Given the description of an element on the screen output the (x, y) to click on. 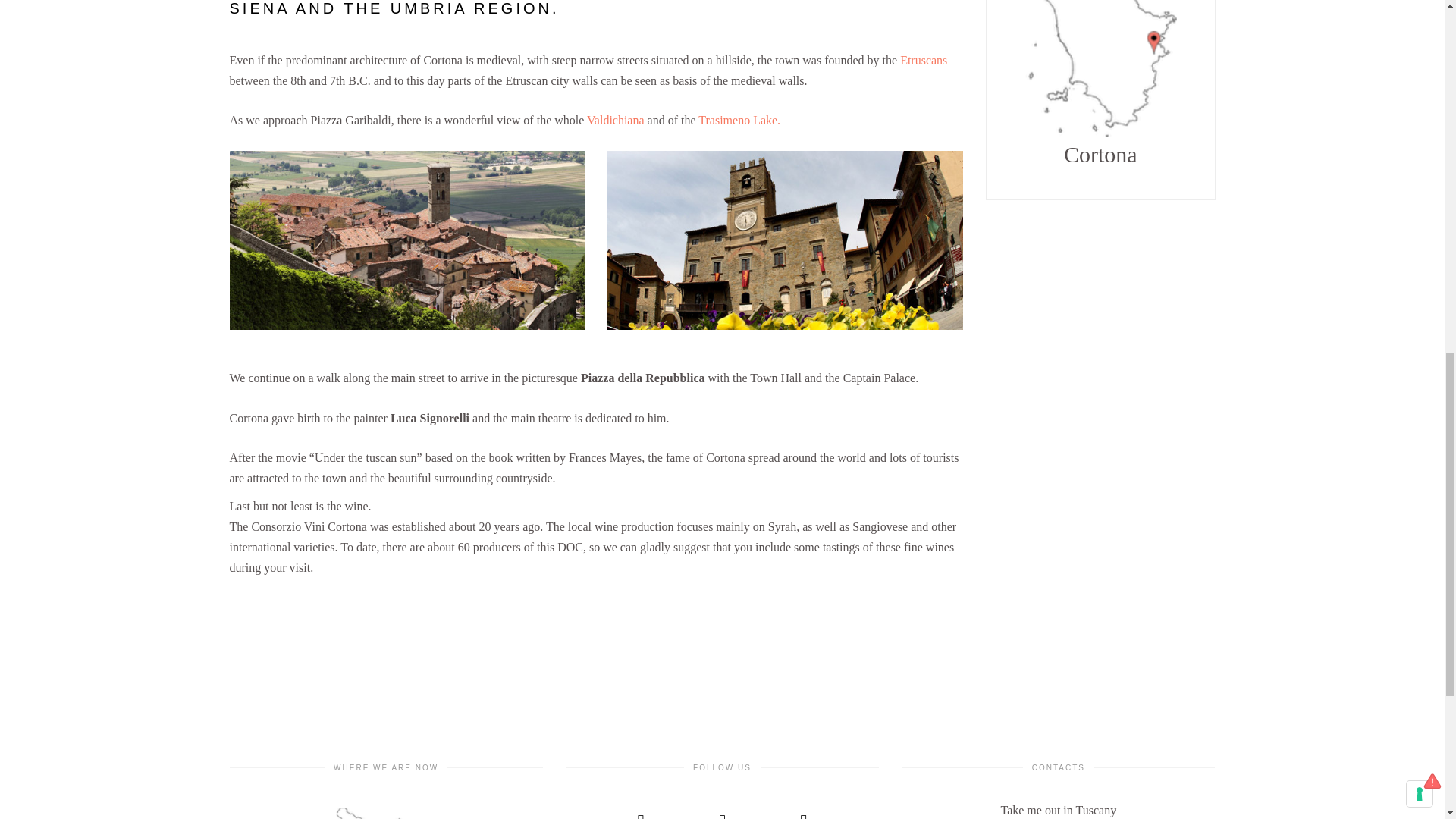
rs-595x300-cortona (406, 240)
rs-595x300-cortona2 (784, 240)
where we are now (385, 813)
